Given the description of an element on the screen output the (x, y) to click on. 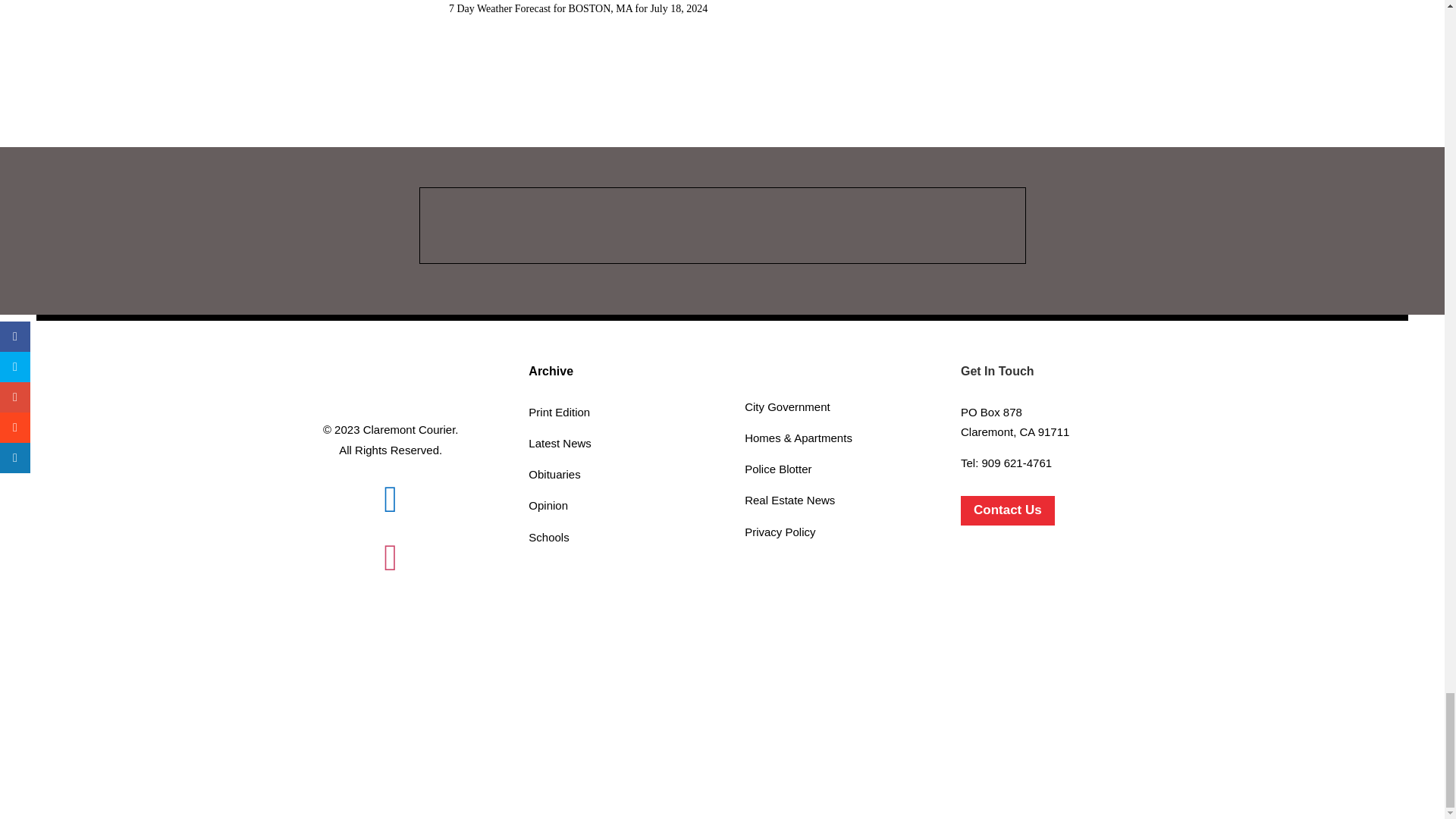
Claremont Courier logo (390, 380)
